Given the description of an element on the screen output the (x, y) to click on. 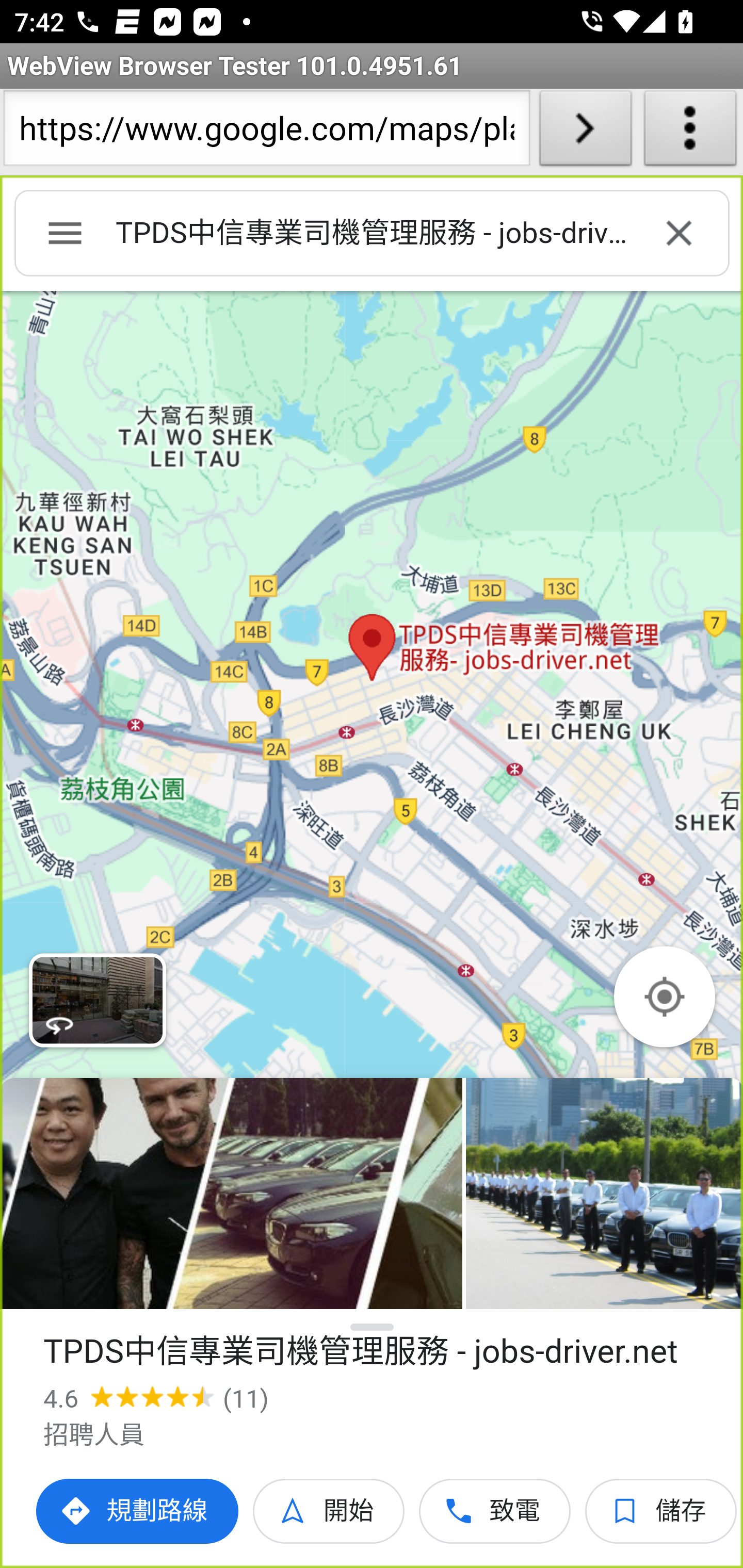
Load URL (585, 132)
About WebView (690, 132)
第 1 張相片 (共 8 張) (231, 1193)
第 2 張相片 (共 8 張) (604, 1193)
顯示詳細資料 (372, 1327)
前往TPDS中信專業司機管理服務 - jobs-driver.net的路線 (137, 1511)
開始 (329, 1511)
致電「TPDS中信專業司機管理服務 - jobs-driver.net」  致電 (495, 1511)
將「TPDS中信專業司機管理服務 - jobs-driver.net」儲存至清單中 (661, 1511)
